Given the description of an element on the screen output the (x, y) to click on. 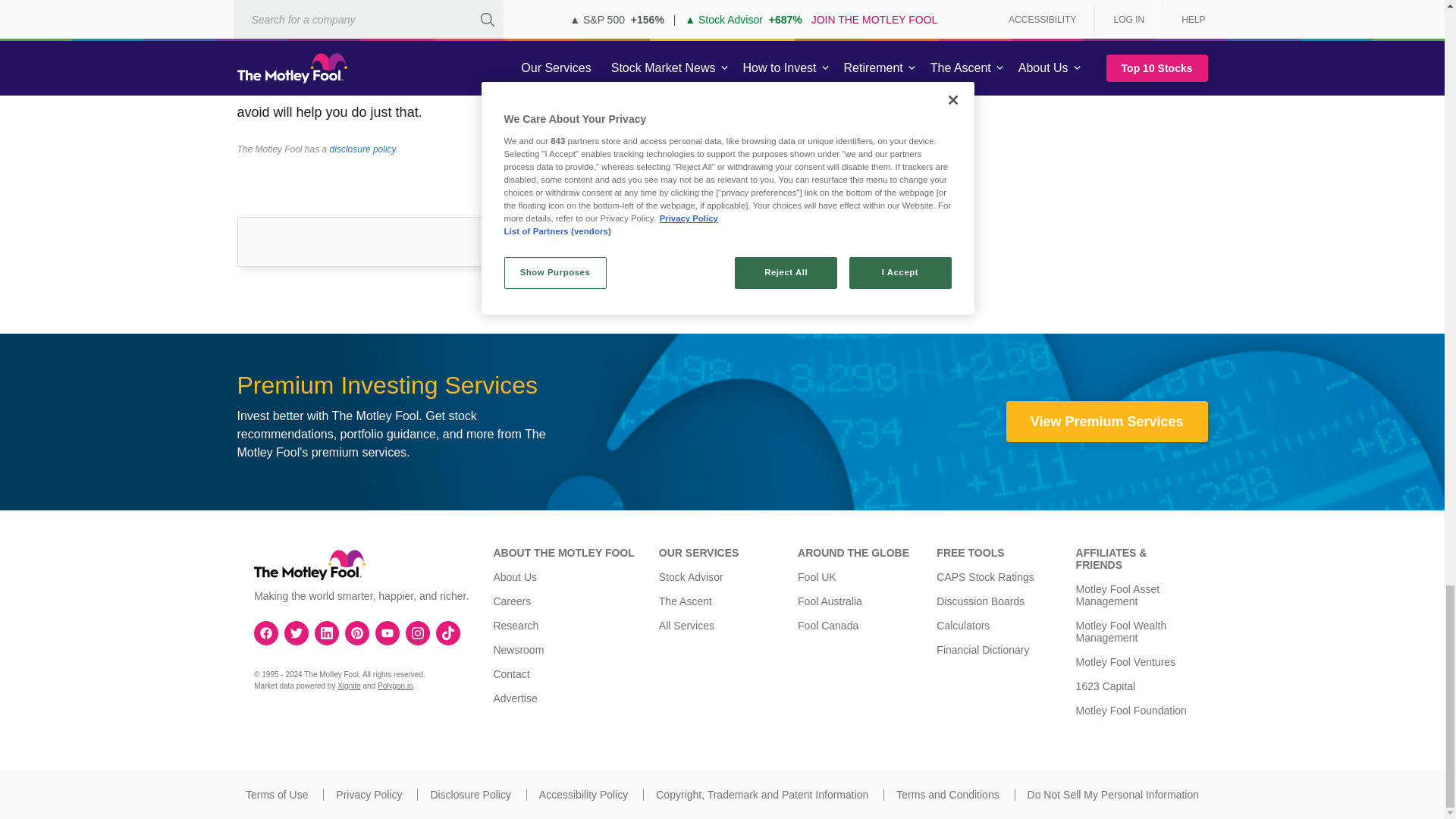
Terms of Use (276, 794)
Accessibility Policy (582, 794)
Terms and Conditions (947, 794)
Privacy Policy (368, 794)
Disclosure Policy (470, 794)
Copyright, Trademark and Patent Information (761, 794)
Do Not Sell My Personal Information. (1112, 794)
